Given the description of an element on the screen output the (x, y) to click on. 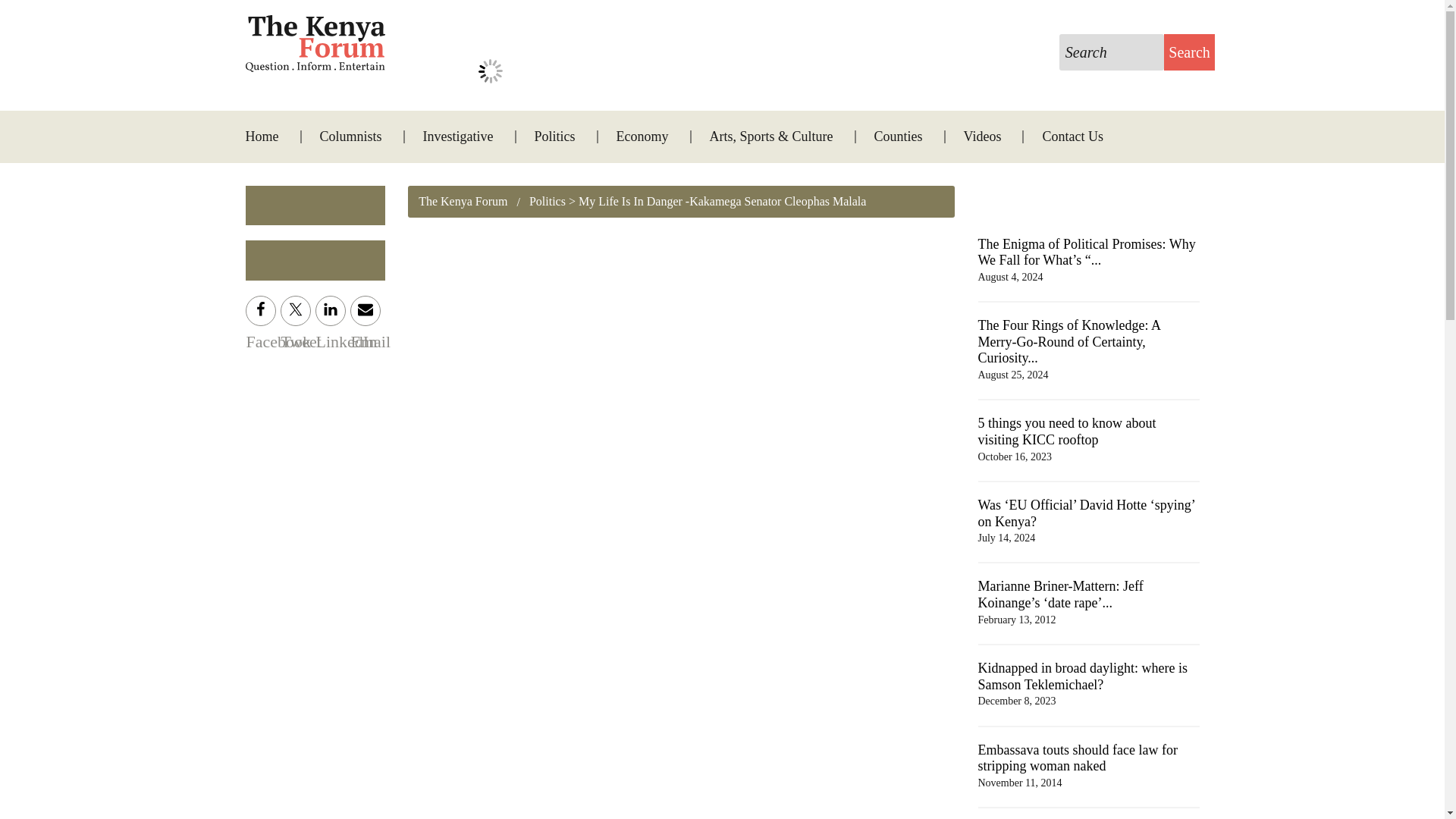
Email (365, 310)
Home (271, 135)
Economy (642, 135)
Investigative (458, 135)
Email (365, 310)
Share on Twitter (296, 310)
Facebook (261, 310)
Tweet (296, 310)
The Kenya Forum (462, 201)
Videos (982, 135)
